Given the description of an element on the screen output the (x, y) to click on. 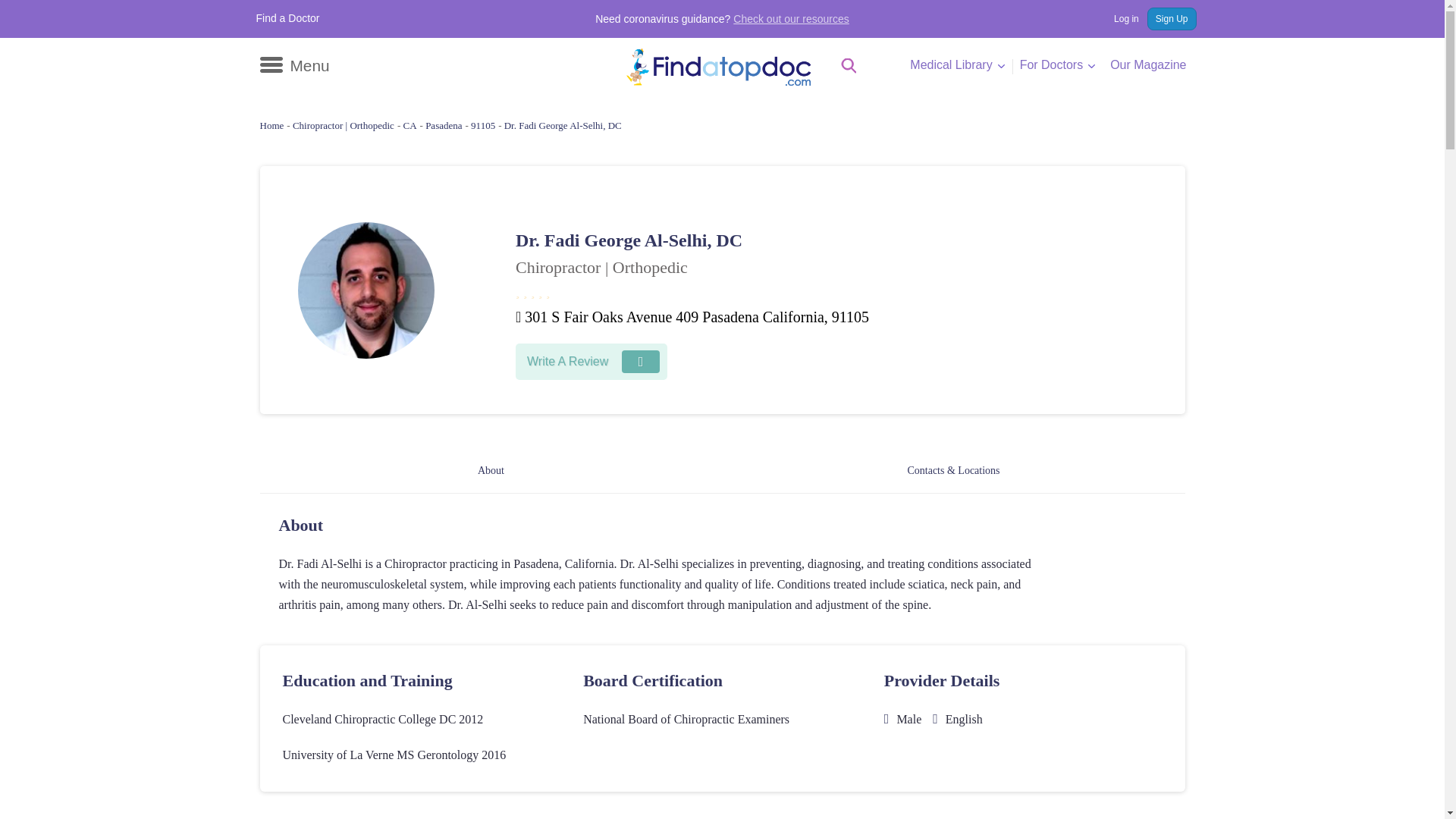
Log in (1118, 18)
Check out our resources (790, 19)
Find a Doctor (287, 17)
Sign Up (1171, 18)
Sign Up (1171, 18)
Menu (294, 65)
Log in (1118, 18)
